Given the description of an element on the screen output the (x, y) to click on. 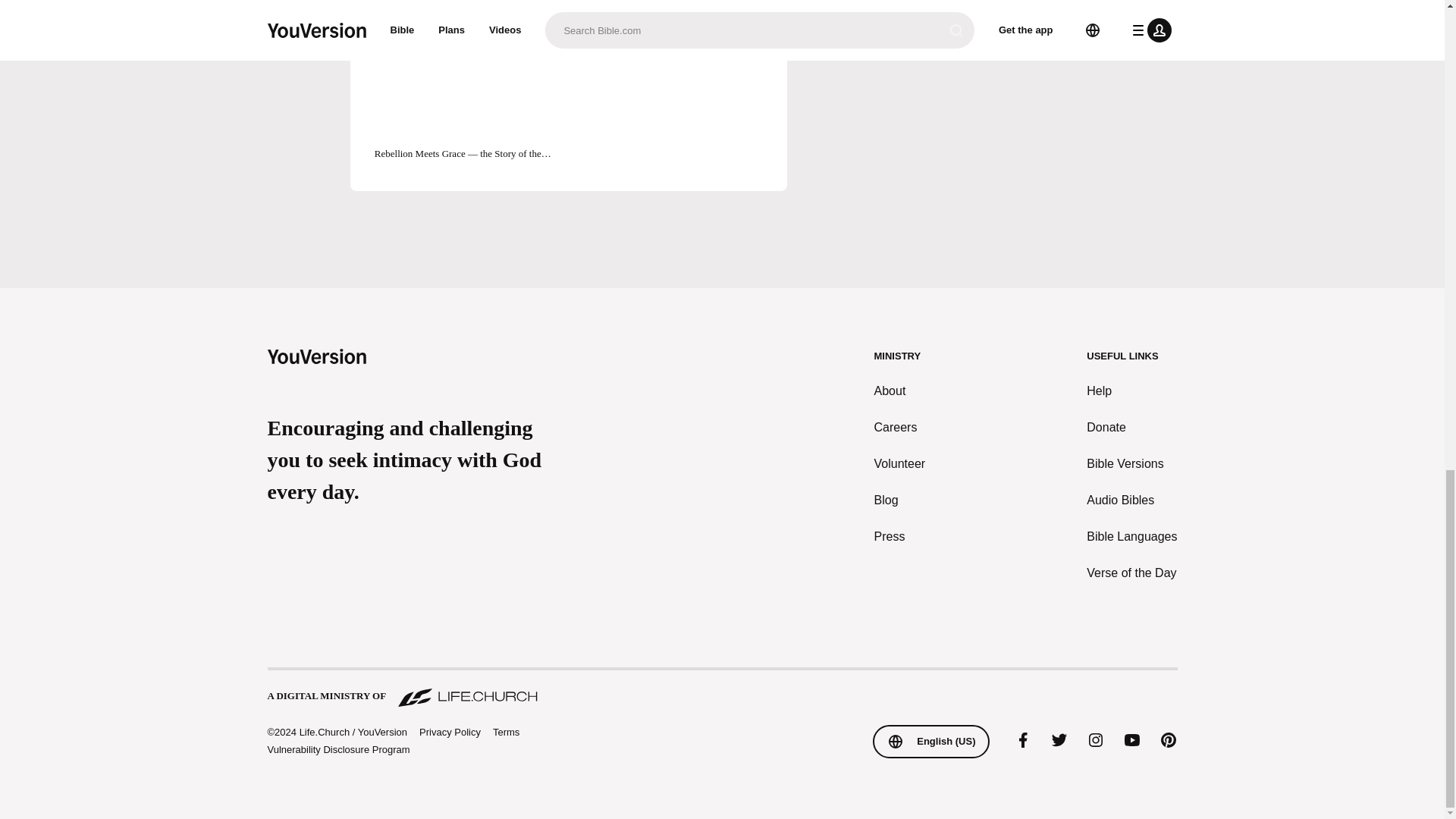
Audio Bibles (1131, 500)
Blog (900, 500)
Amos: Seek The Lord and Live (468, 7)
Help (1131, 391)
Donate (1131, 427)
Volunteer (900, 464)
Bible Versions (1131, 464)
Press (900, 536)
About (900, 391)
Verse of the Day (1131, 573)
Careers (900, 427)
Bible Languages (1131, 536)
